Given the description of an element on the screen output the (x, y) to click on. 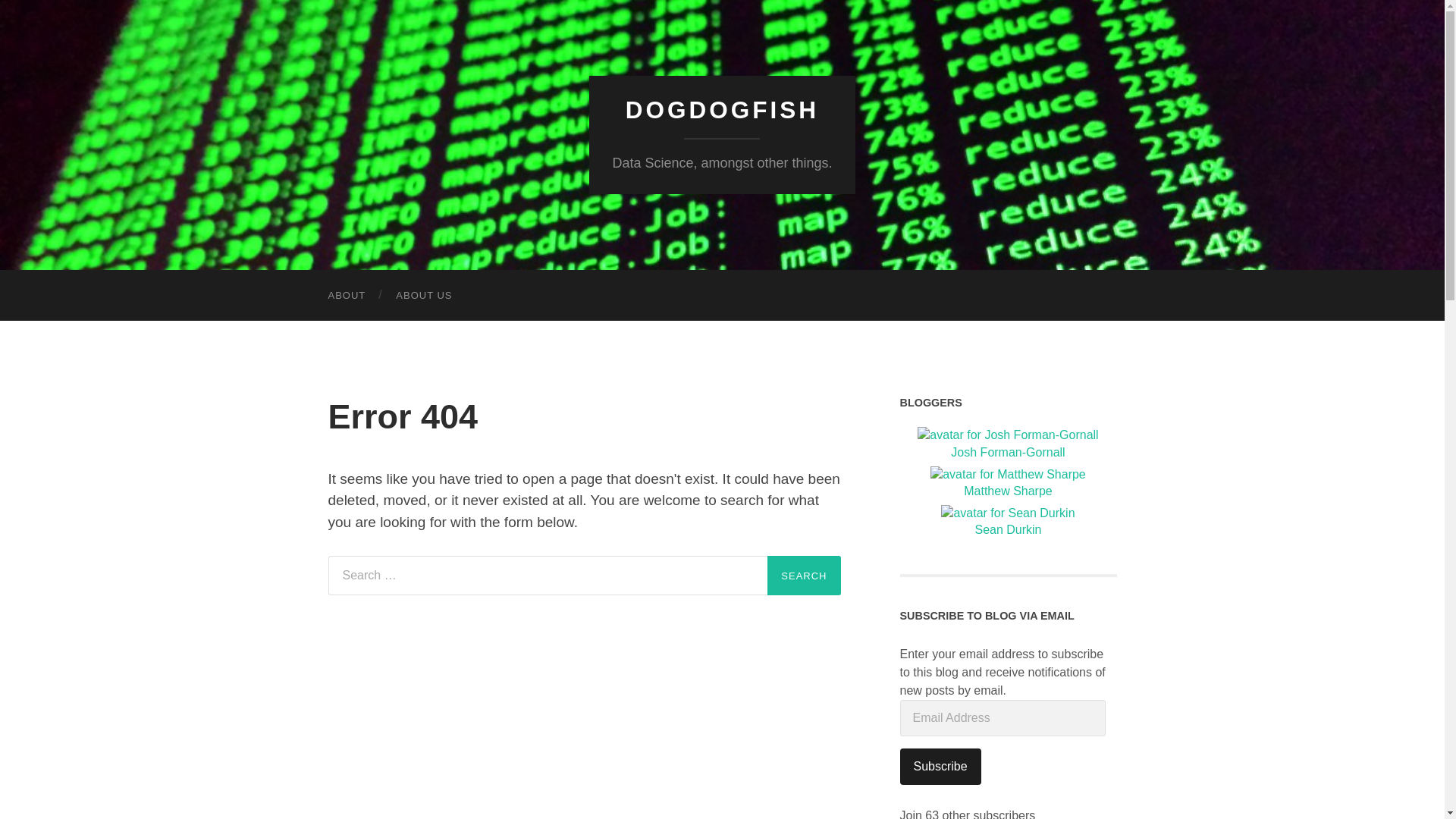
ABOUT (346, 295)
Josh Forman-Gornall (1008, 444)
Search (803, 575)
Search (803, 575)
Matthew Sharpe (1008, 483)
Sean Durkin (1008, 522)
Matthew Sharpe (1008, 483)
DOGDOGFISH (722, 109)
Subscribe (939, 766)
ABOUT US (423, 295)
Josh Forman-Gornall (1008, 444)
Sean Durkin (1008, 522)
Search (803, 575)
